Given the description of an element on the screen output the (x, y) to click on. 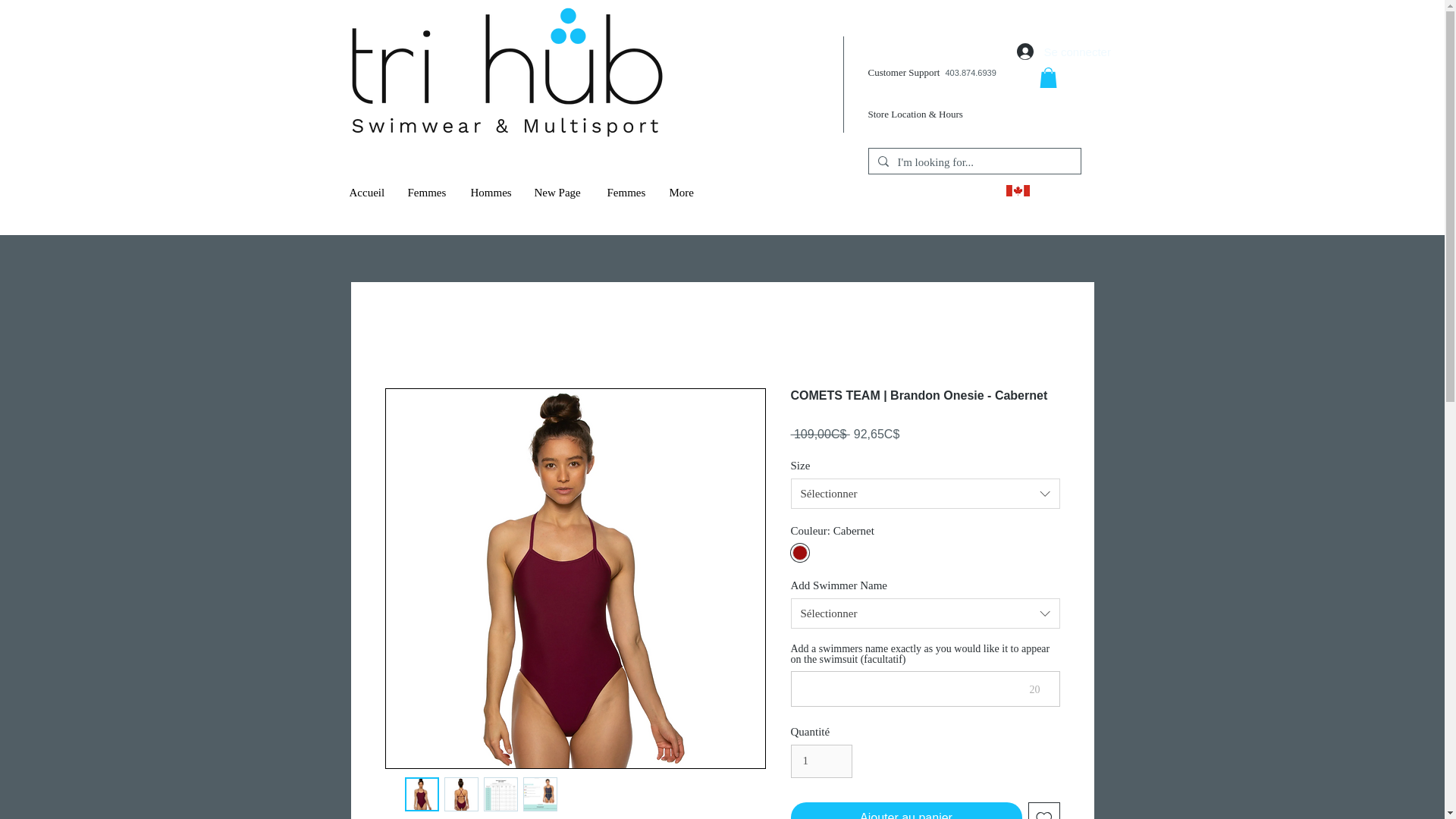
Femmes (427, 192)
New Page (558, 192)
1 (820, 761)
Canada Flag.png (1017, 190)
Hommes (491, 192)
Accueil (366, 192)
Femmes (626, 192)
